Given the description of an element on the screen output the (x, y) to click on. 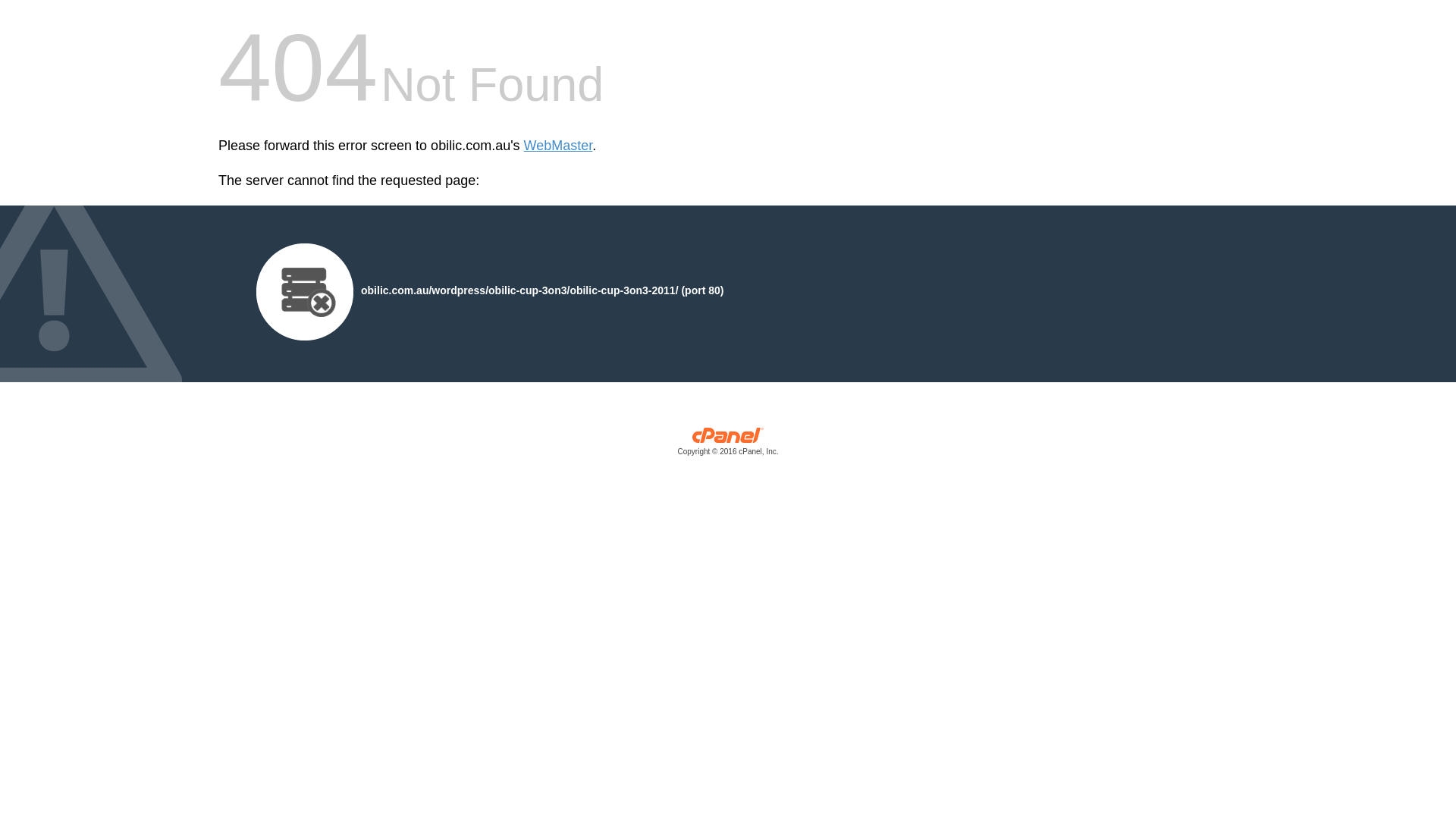
WebMaster Element type: text (558, 145)
